Given the description of an element on the screen output the (x, y) to click on. 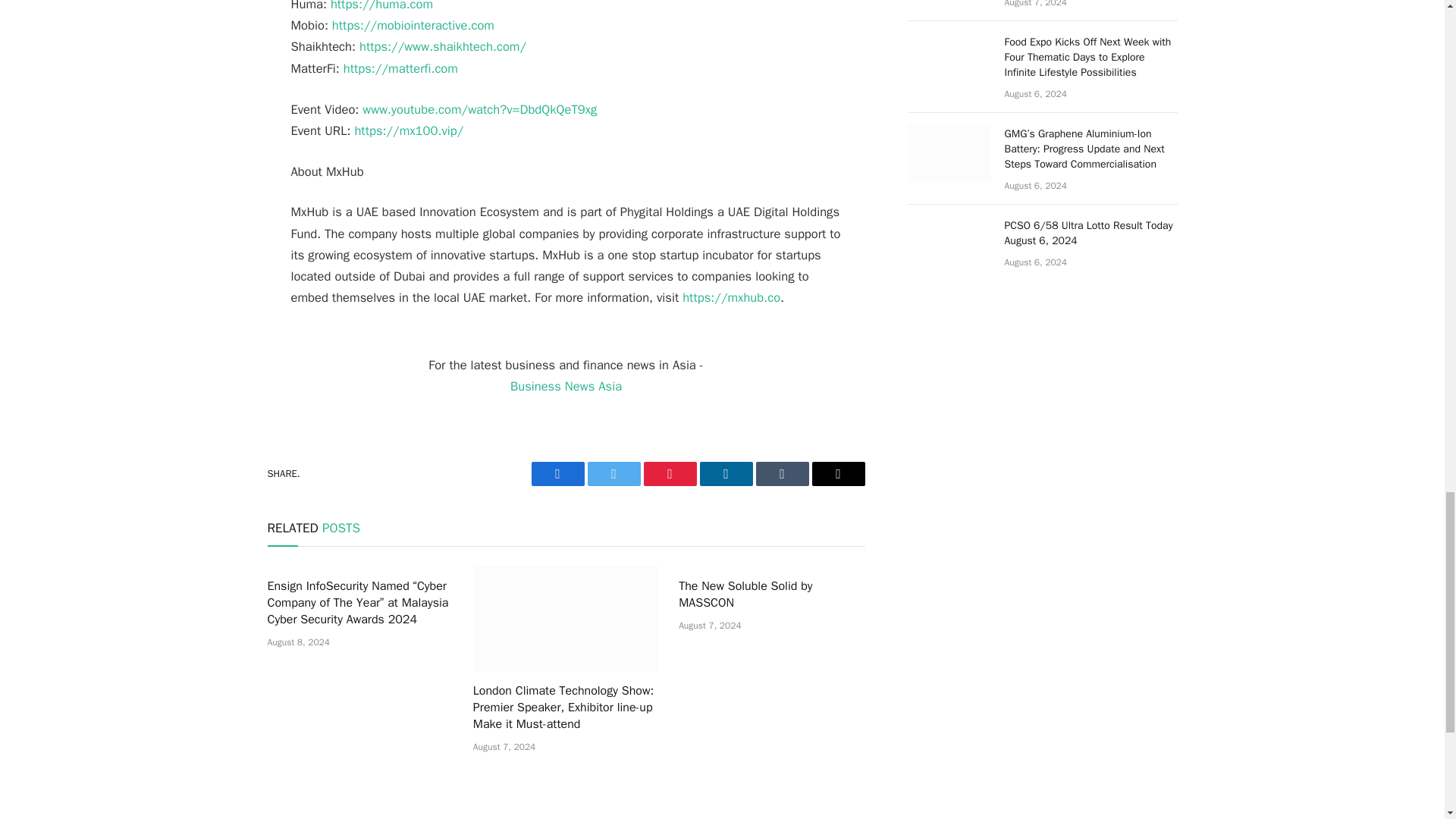
Share on Facebook (557, 473)
